Given the description of an element on the screen output the (x, y) to click on. 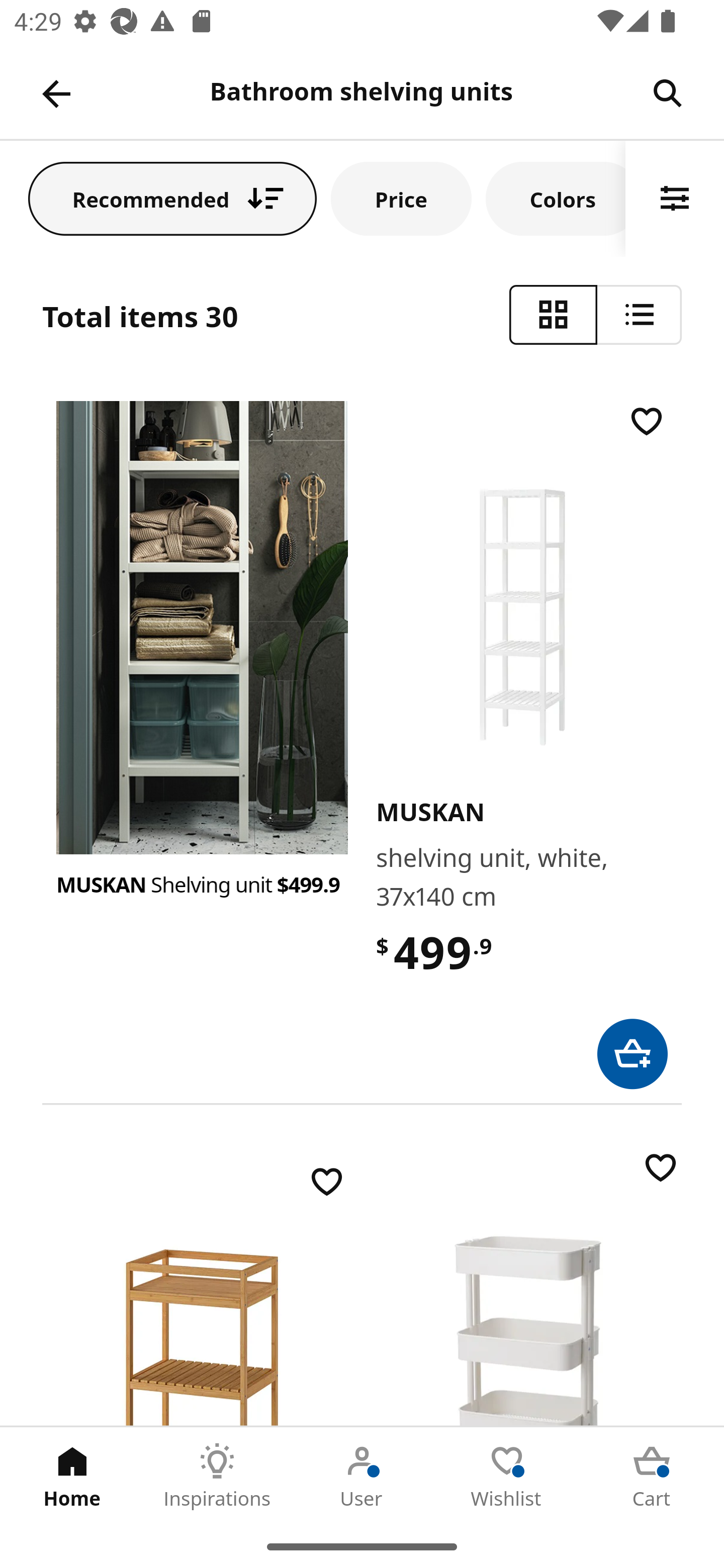
Recommended (172, 198)
Price (400, 198)
Colors (555, 198)
MUSKAN Shelving unit $499.9 (202, 884)
Home
Tab 1 of 5 (72, 1476)
Inspirations
Tab 2 of 5 (216, 1476)
User
Tab 3 of 5 (361, 1476)
Wishlist
Tab 4 of 5 (506, 1476)
Cart
Tab 5 of 5 (651, 1476)
